Given the description of an element on the screen output the (x, y) to click on. 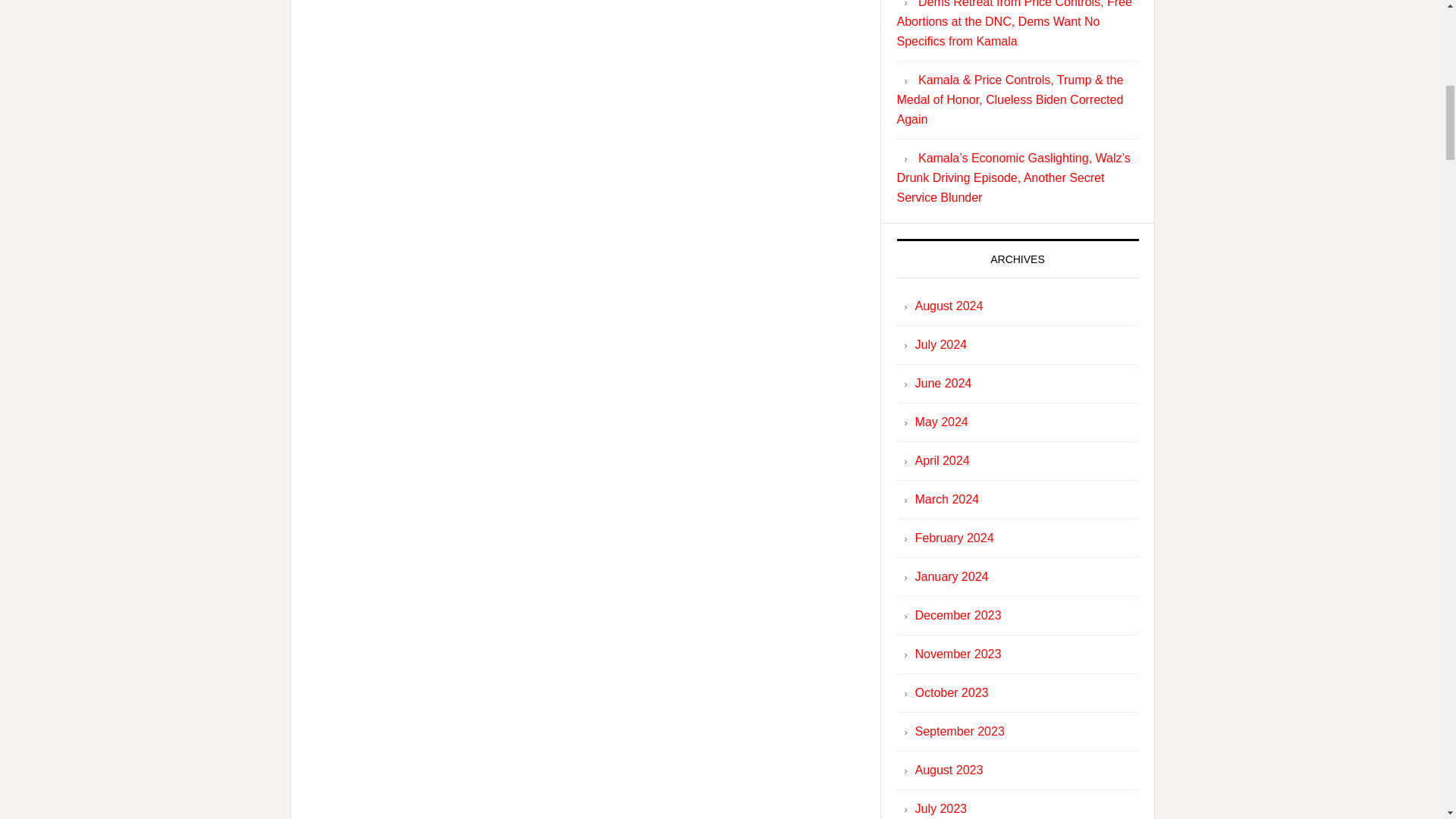
August 2024 (948, 305)
July 2024 (940, 344)
